Given the description of an element on the screen output the (x, y) to click on. 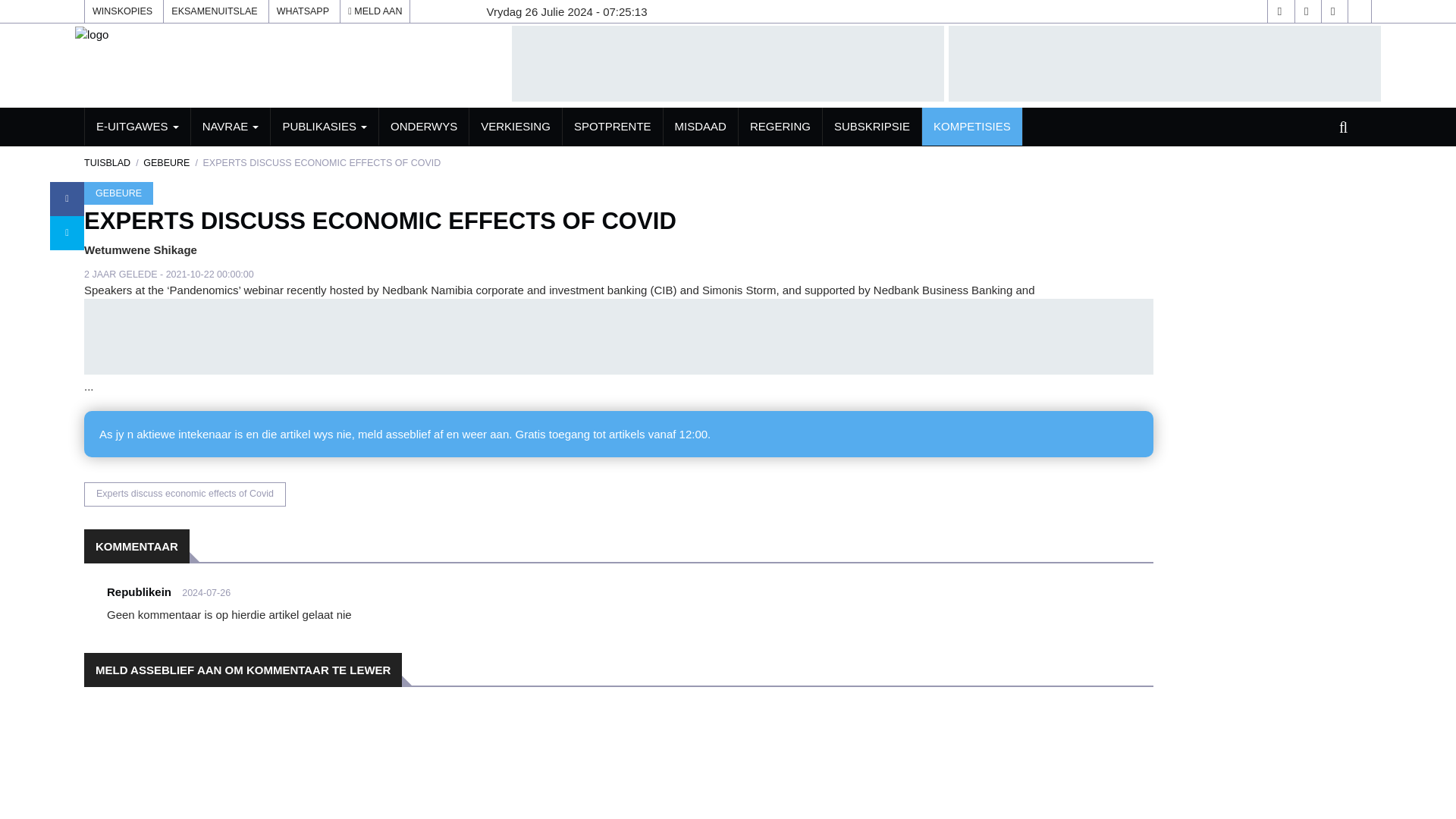
NAVRAE (230, 126)
Twitter account (1306, 11)
home (91, 33)
Youtube account (1332, 11)
Facebook account (1279, 11)
E-UITGAWES (137, 126)
WHATSAPP (302, 11)
EKSAMENUITSLAE (213, 11)
MELD AAN (374, 11)
WINSKOPIES (122, 11)
One Up Two (1359, 11)
